Given the description of an element on the screen output the (x, y) to click on. 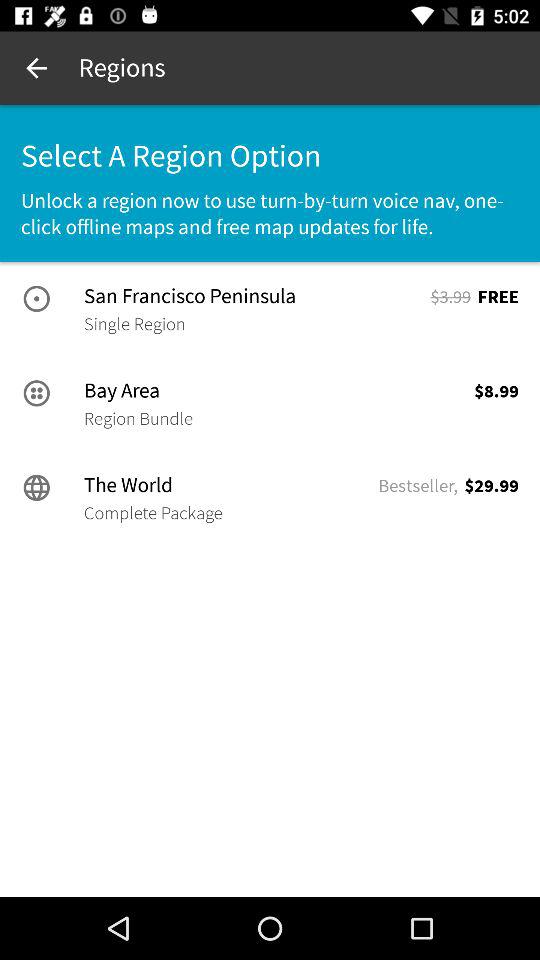
turn off the icon next to $3.99 item (134, 323)
